Given the description of an element on the screen output the (x, y) to click on. 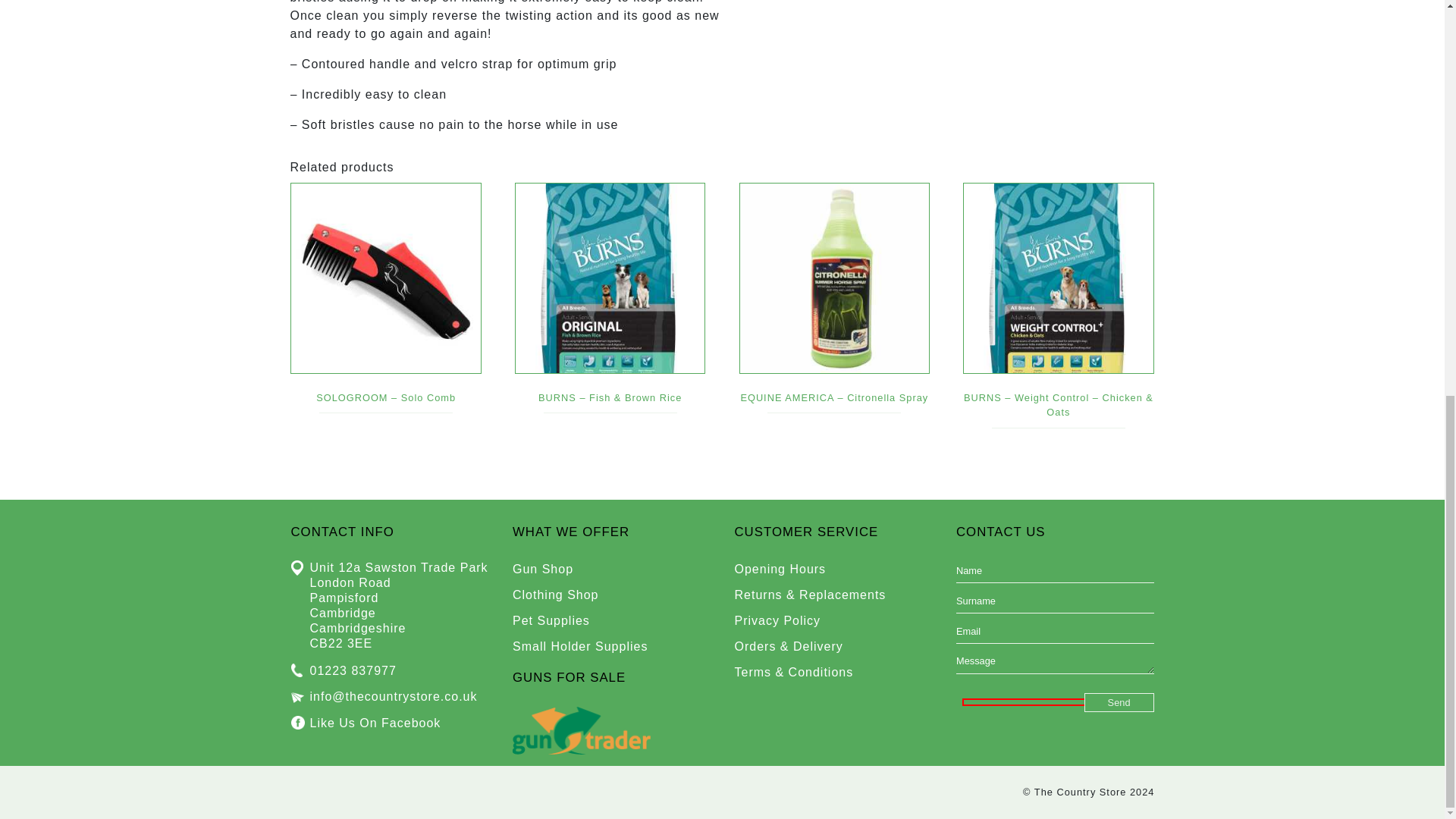
Send (1119, 701)
